Given the description of an element on the screen output the (x, y) to click on. 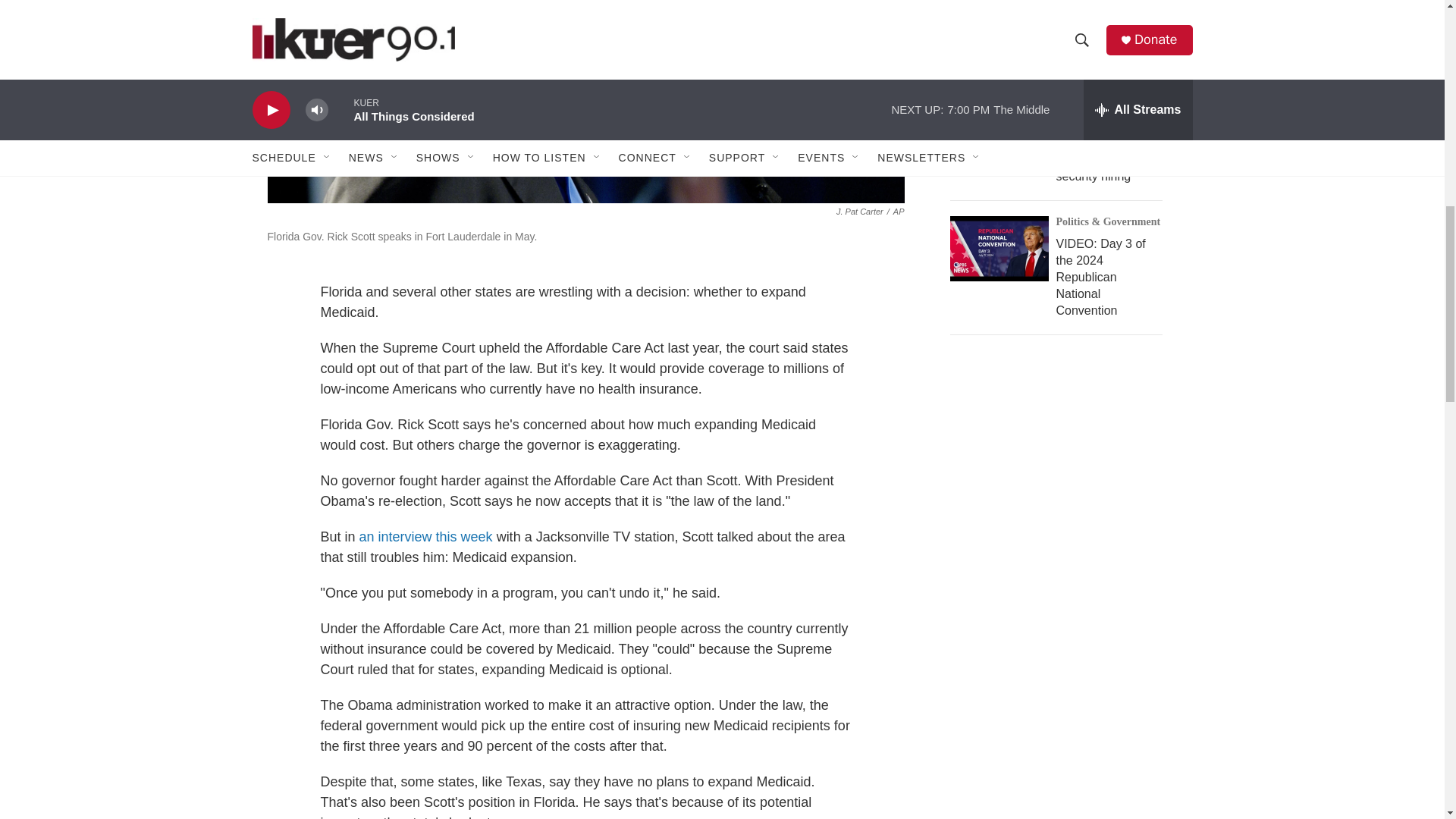
3rd party ad content (1062, 478)
3rd party ad content (1062, 721)
